Given the description of an element on the screen output the (x, y) to click on. 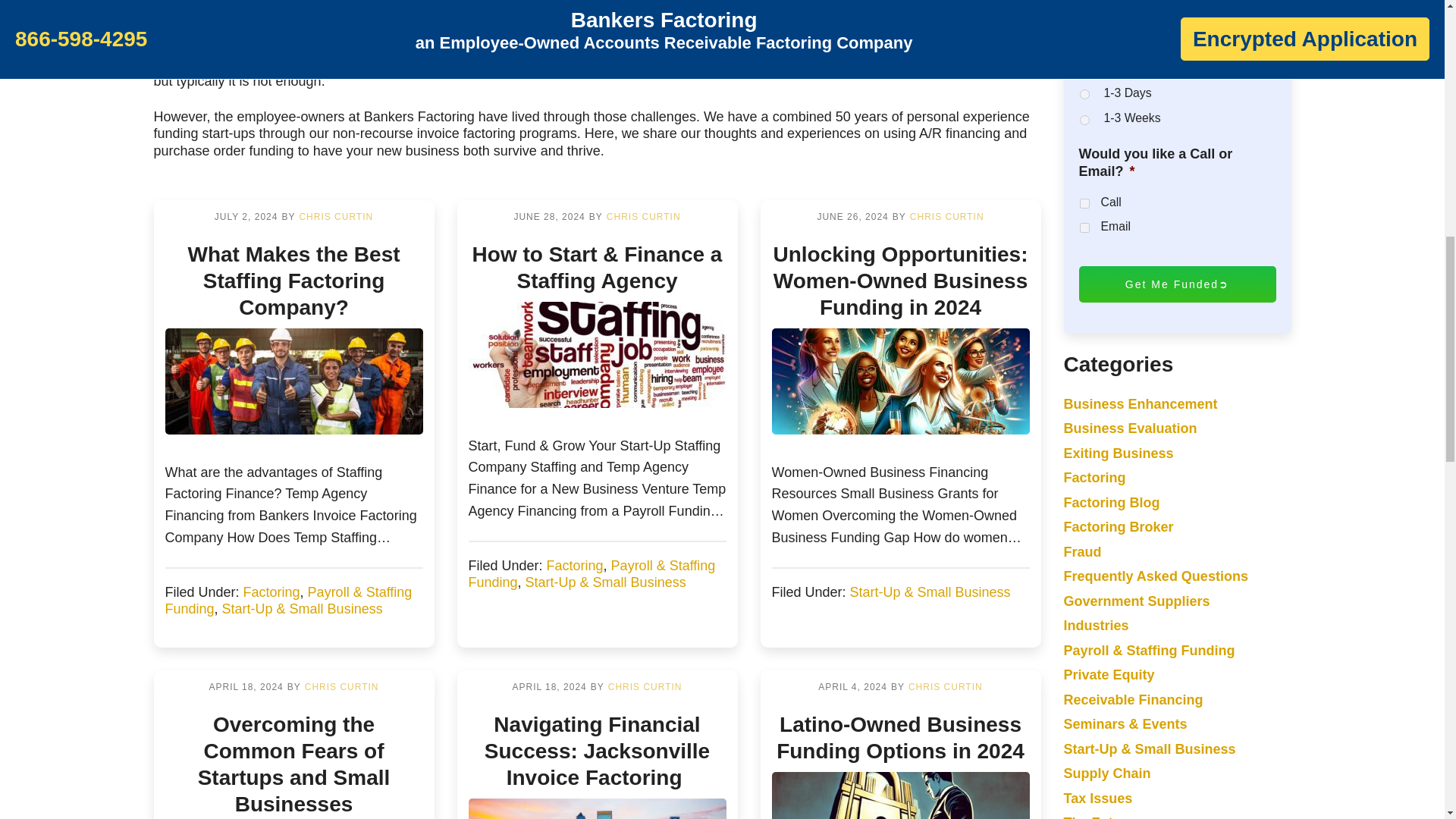
Email (1084, 227)
Call (1084, 203)
1-3 Weeks (1084, 120)
1-3 Days (1084, 94)
